Given the description of an element on the screen output the (x, y) to click on. 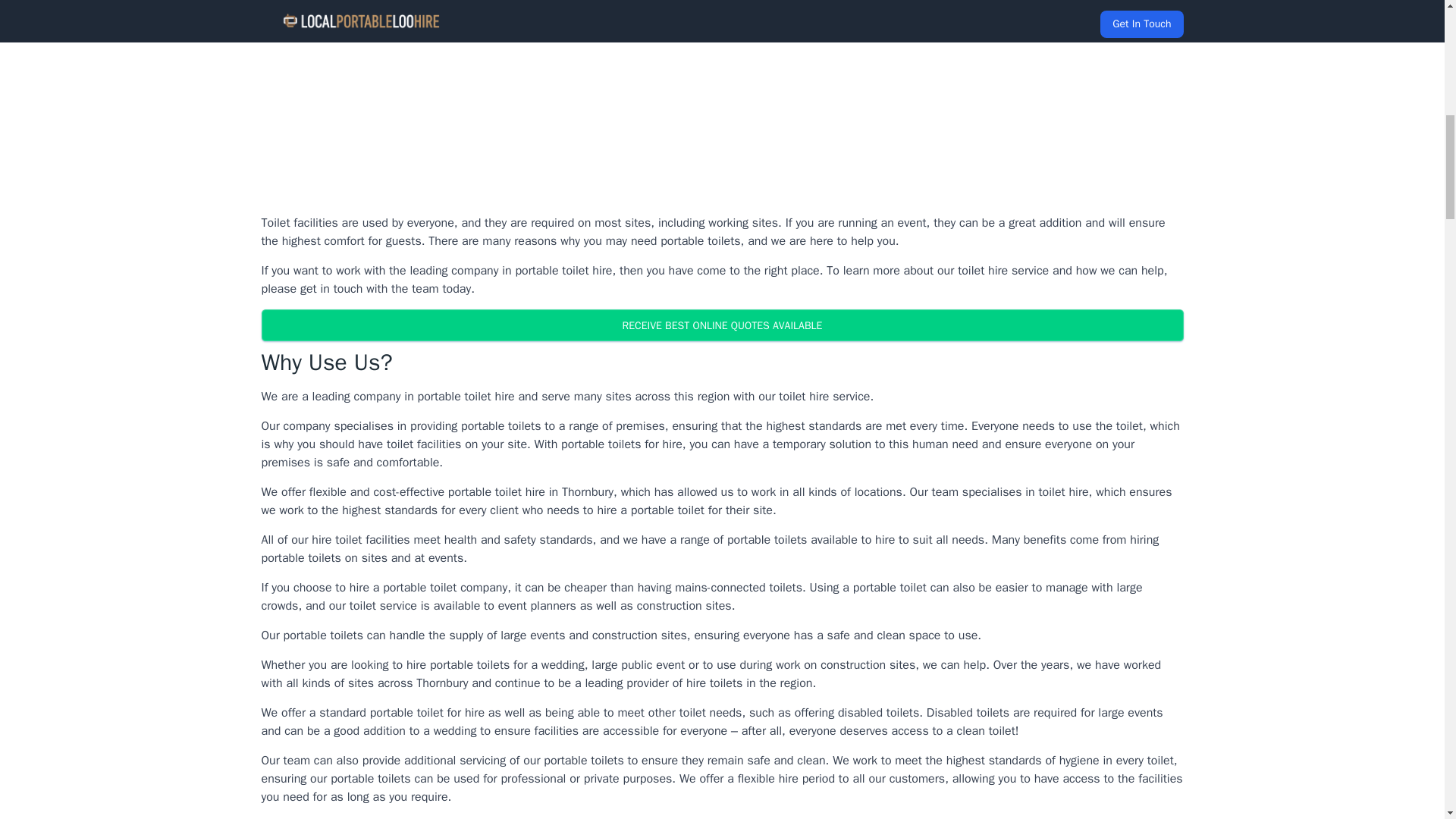
RECEIVE BEST ONLINE QUOTES AVAILABLE (721, 325)
